Given the description of an element on the screen output the (x, y) to click on. 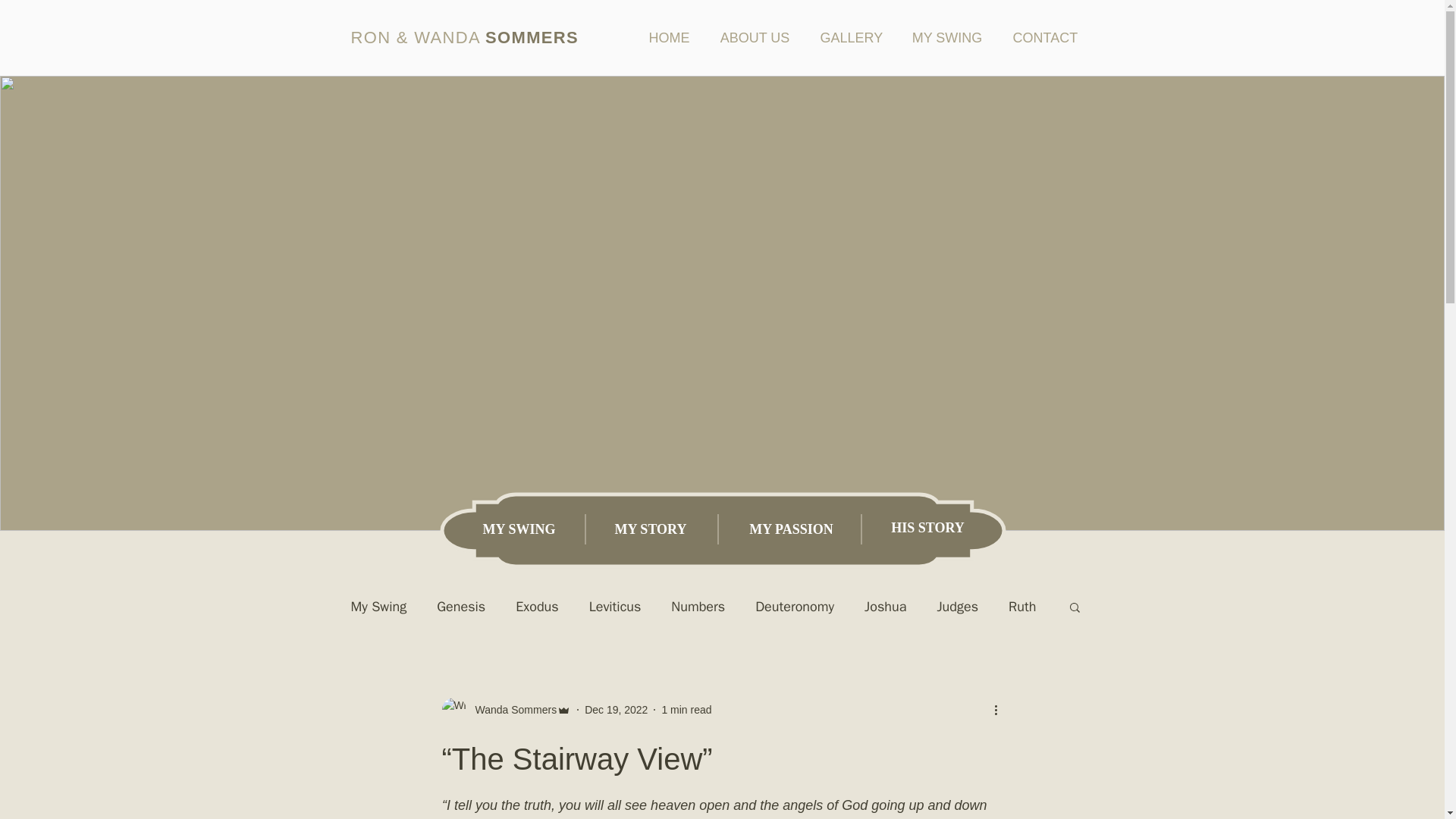
Dec 19, 2022 (616, 709)
ABOUT US (754, 36)
HIS STORY (927, 528)
Exodus (536, 606)
My Swing (378, 606)
MY STORY (649, 530)
Deuteronomy (794, 606)
1 min read (686, 709)
GALLERY (850, 36)
MY PASSION (791, 530)
Wanda Sommers (505, 709)
Ruth (1022, 606)
Numbers (698, 606)
MY SWING (519, 530)
Wanda Sommers (510, 709)
